Given the description of an element on the screen output the (x, y) to click on. 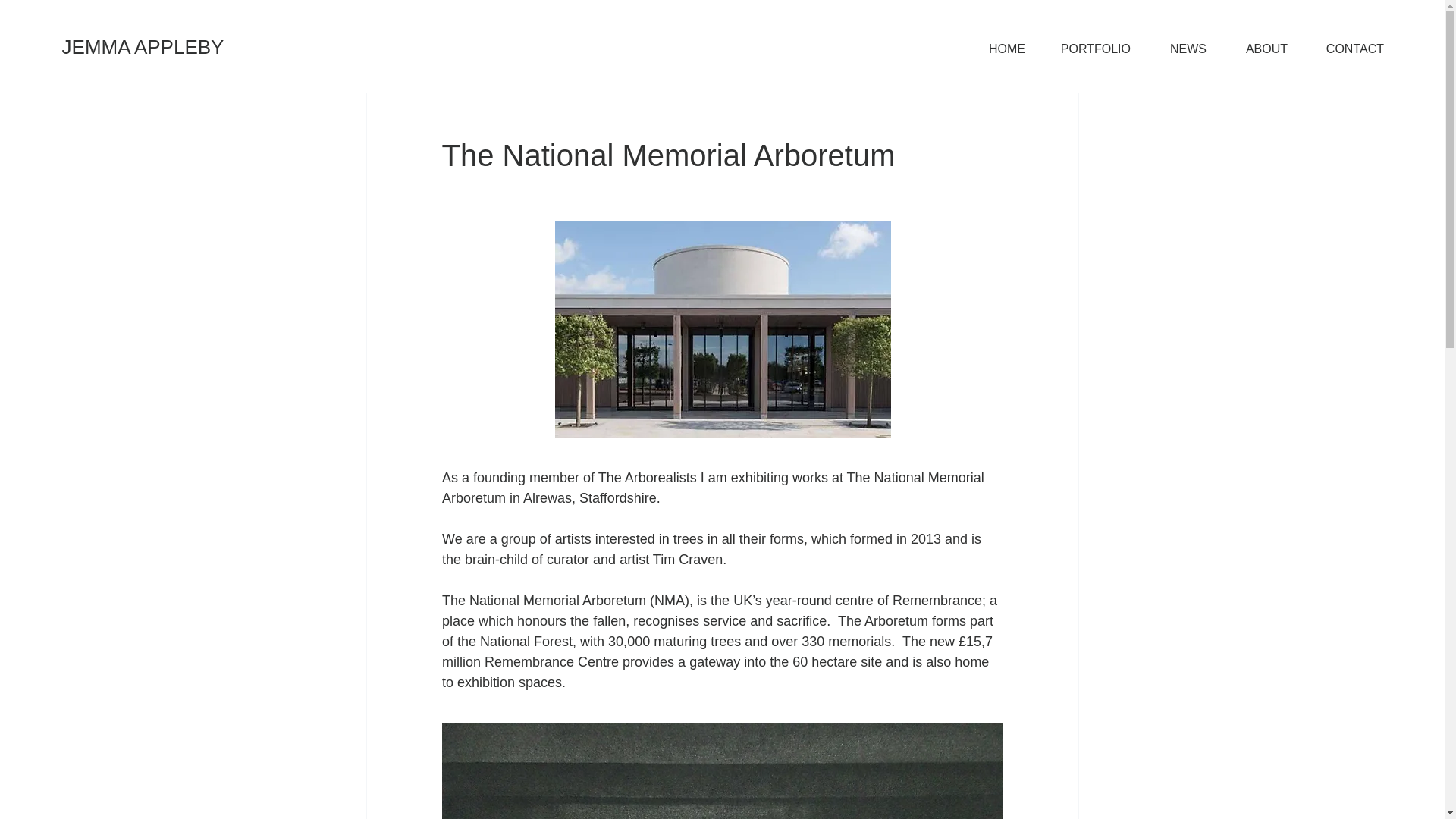
HOME (998, 48)
JEMMA APPLEBY (143, 46)
PORTFOLIO (1088, 48)
CONTACT (1346, 48)
NEWS (1179, 48)
ABOUT (1257, 48)
